Given the description of an element on the screen output the (x, y) to click on. 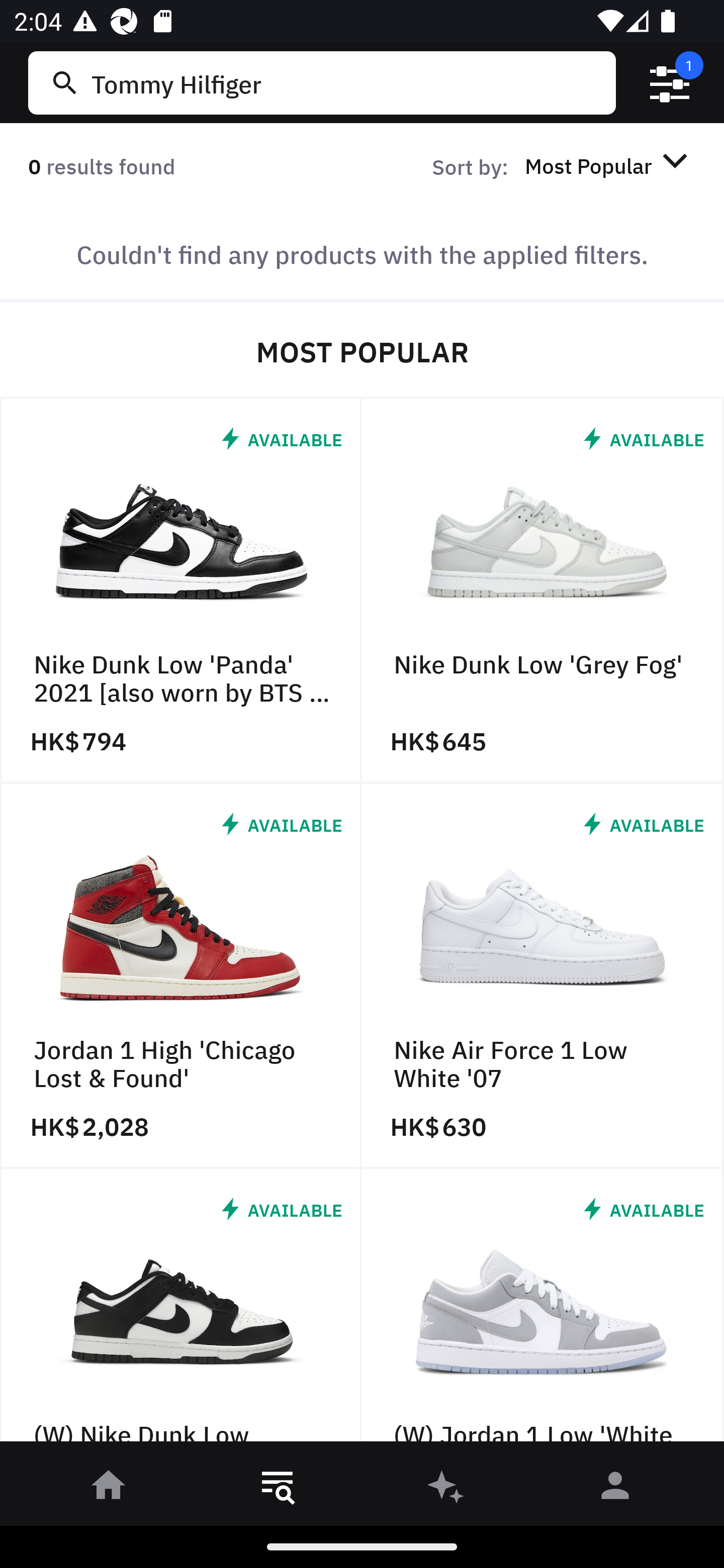
Tommy Hilfiger (349, 82)
 (669, 82)
Most Popular  (609, 165)
 AVAILABLE Nike Dunk Low 'Grey Fog' HK$ 645 (543, 591)
 AVAILABLE Nike Air Force 1 Low White '07 HK$ 630 (543, 976)
 AVAILABLE (W) Nike Dunk Low 'Panda' 2021 (181, 1309)
 AVAILABLE (W) Jordan 1 Low 'White Wolf Grey' (543, 1309)
󰋜 (108, 1488)
󱎸 (277, 1488)
󰫢 (446, 1488)
󰀄 (615, 1488)
